Given the description of an element on the screen output the (x, y) to click on. 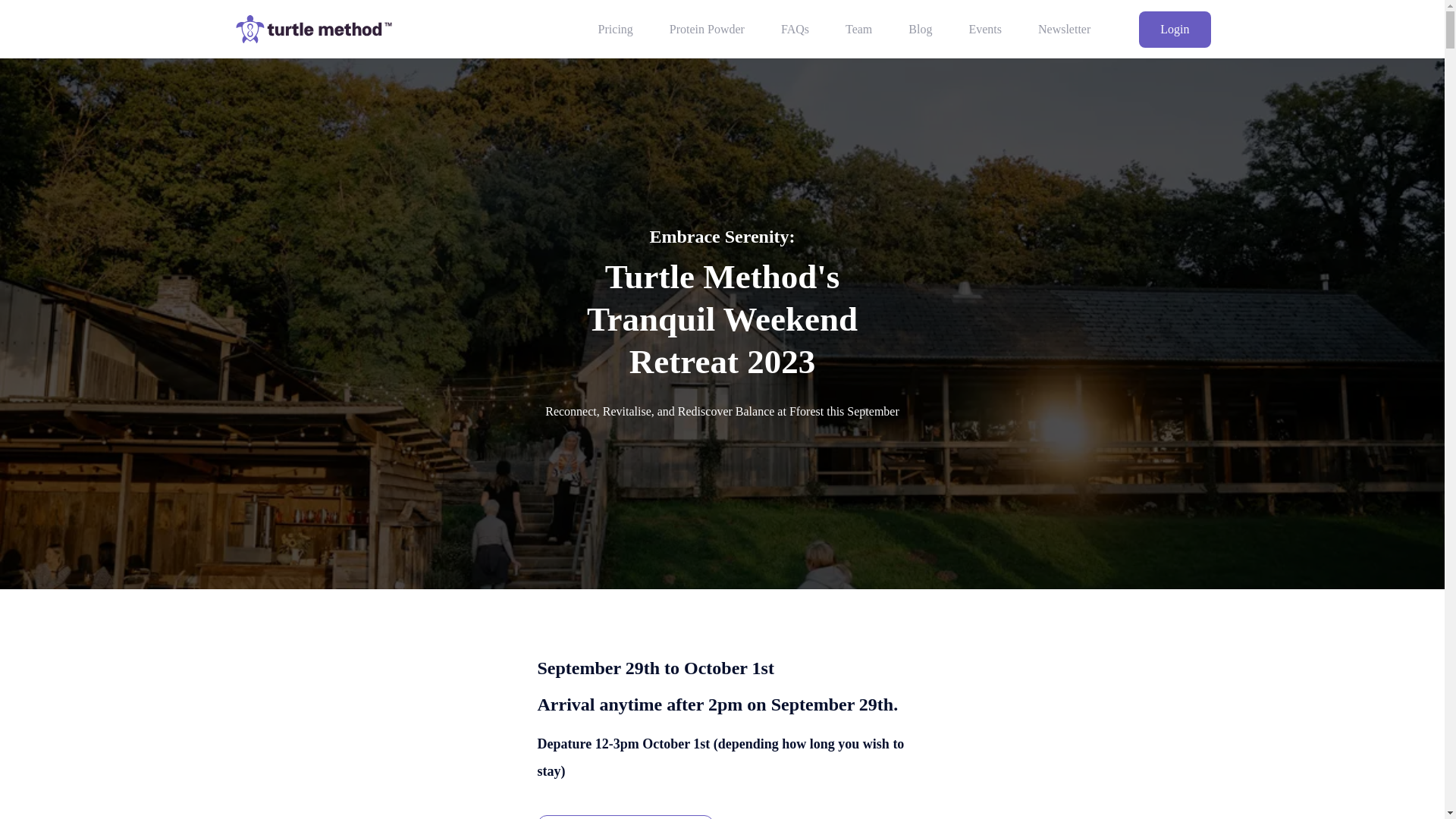
Login (1173, 29)
Protein Powder (706, 29)
Protein Powder (706, 29)
Watch fforest 2022 recap (625, 816)
Newsletter (1064, 29)
Newsletter (1064, 29)
